Given the description of an element on the screen output the (x, y) to click on. 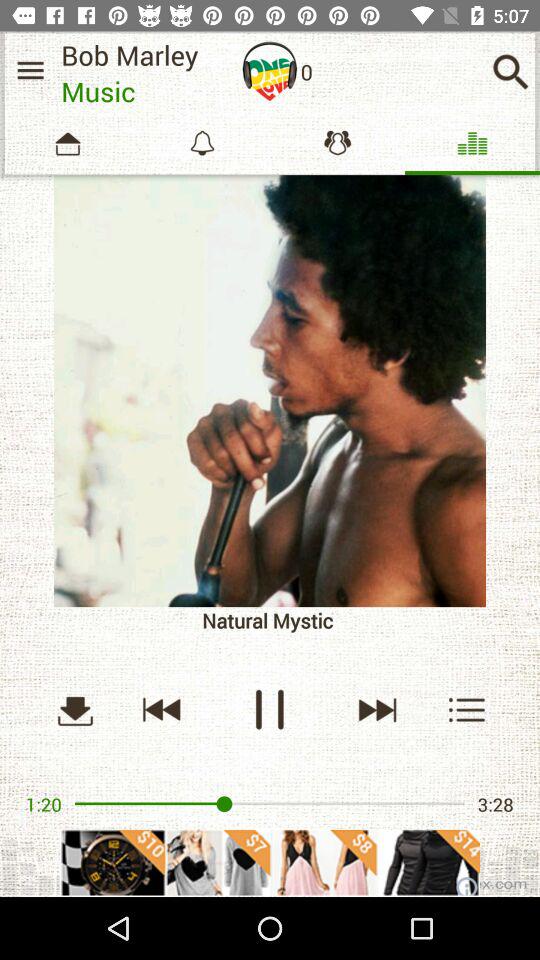
add to playlist (467, 709)
